Given the description of an element on the screen output the (x, y) to click on. 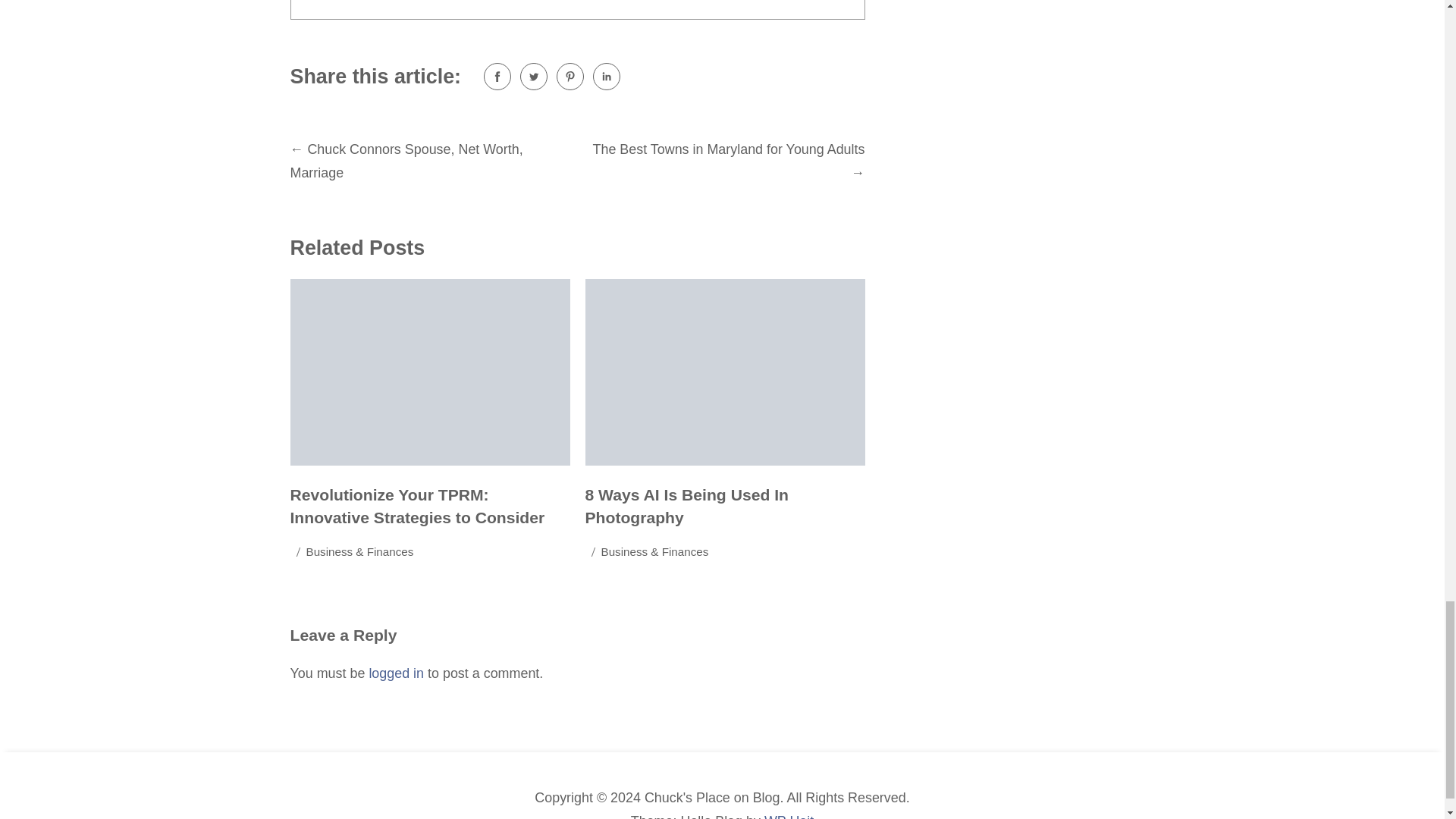
Revolutionize Your TPRM: Innovative Strategies to Consider (416, 506)
8 Ways AI Is Being Used In Photography (687, 506)
logged in (395, 672)
